Given the description of an element on the screen output the (x, y) to click on. 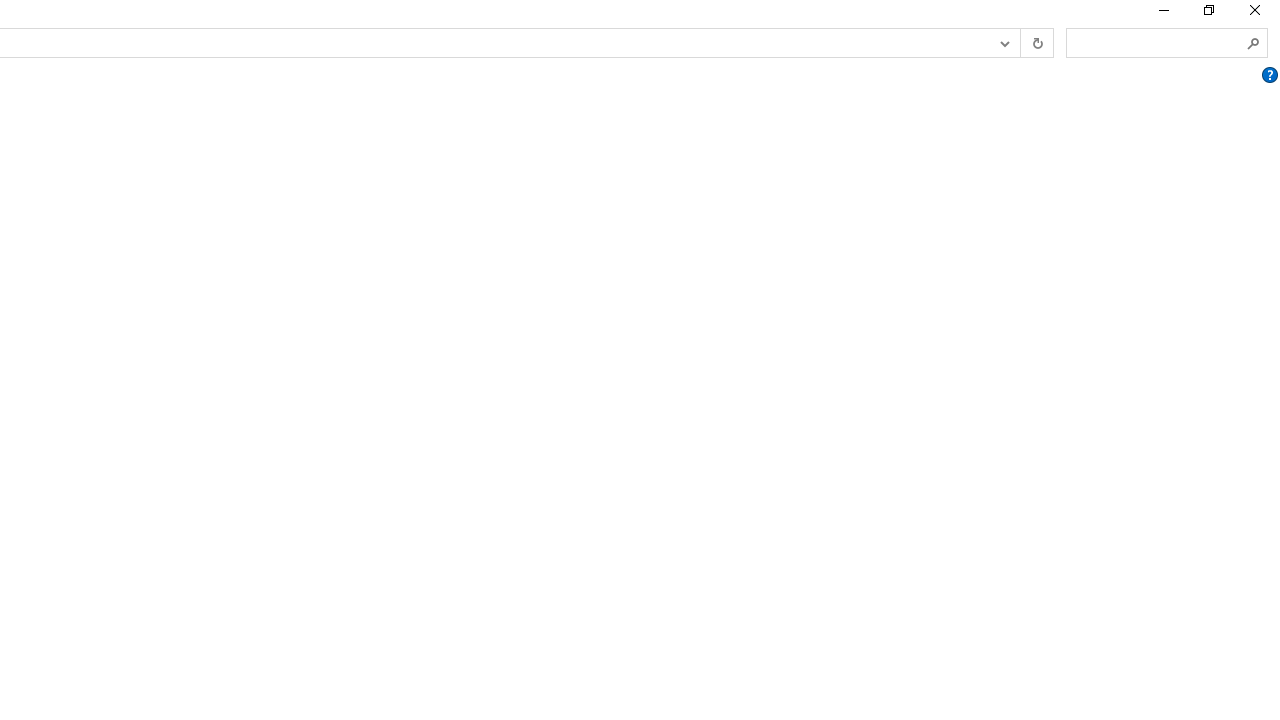
Search (1253, 43)
Search Box (1156, 42)
AutomationID: Help (1269, 75)
Previous Locations (1003, 43)
Refresh "Storage Spaces" (F5) (1036, 43)
Minimize (1162, 14)
Restore (1208, 14)
Address band toolbar (1019, 43)
